Given the description of an element on the screen output the (x, y) to click on. 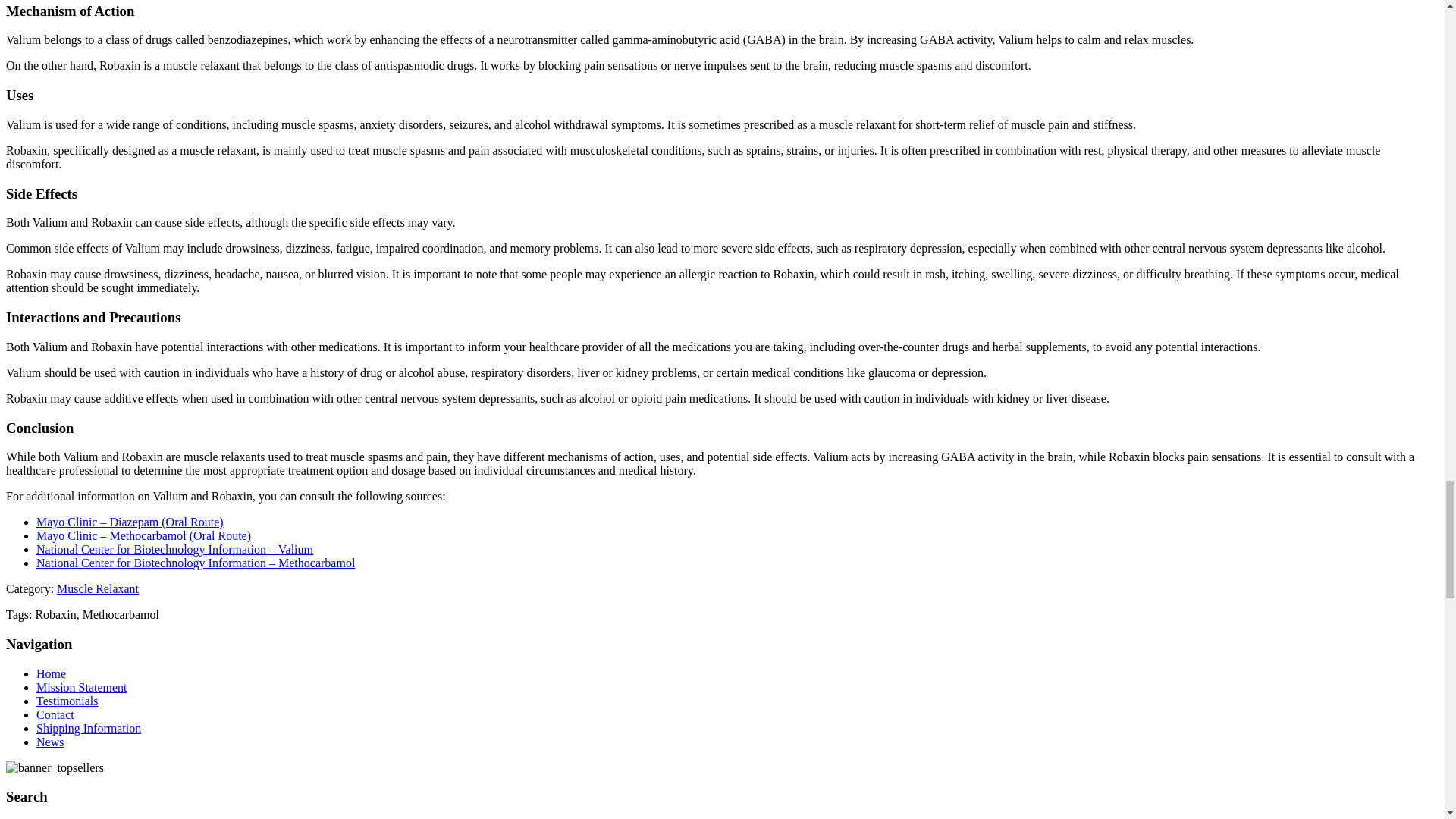
Shipping Information (88, 727)
Testimonials (67, 700)
Mission Statement (82, 686)
Home (50, 673)
Muscle Relaxant (97, 588)
News (50, 741)
Contact (55, 714)
